Given the description of an element on the screen output the (x, y) to click on. 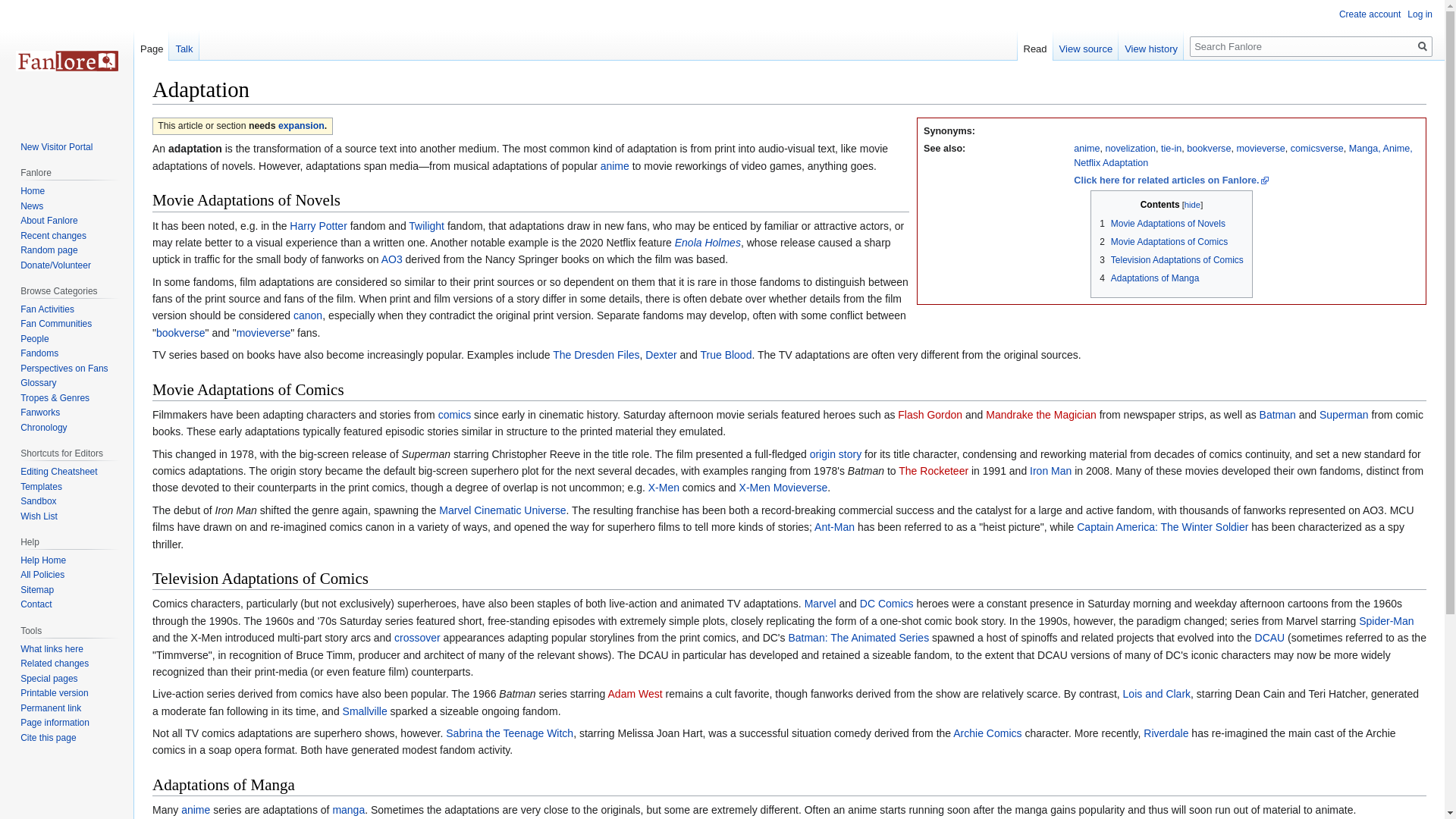
Movieverse (1260, 148)
movieverse (1260, 148)
X-Men (663, 487)
Comicsverse (1316, 148)
Go (1422, 46)
movieverse (263, 332)
The Rocketeer (933, 470)
AO3 (392, 259)
The Dresden Files (596, 354)
comicsverse (1316, 148)
Harry Potter (317, 225)
bookverse (1208, 148)
1 Movie Adaptations of Novels (1162, 223)
The Dresden Files (596, 354)
anime (613, 165)
